Given the description of an element on the screen output the (x, y) to click on. 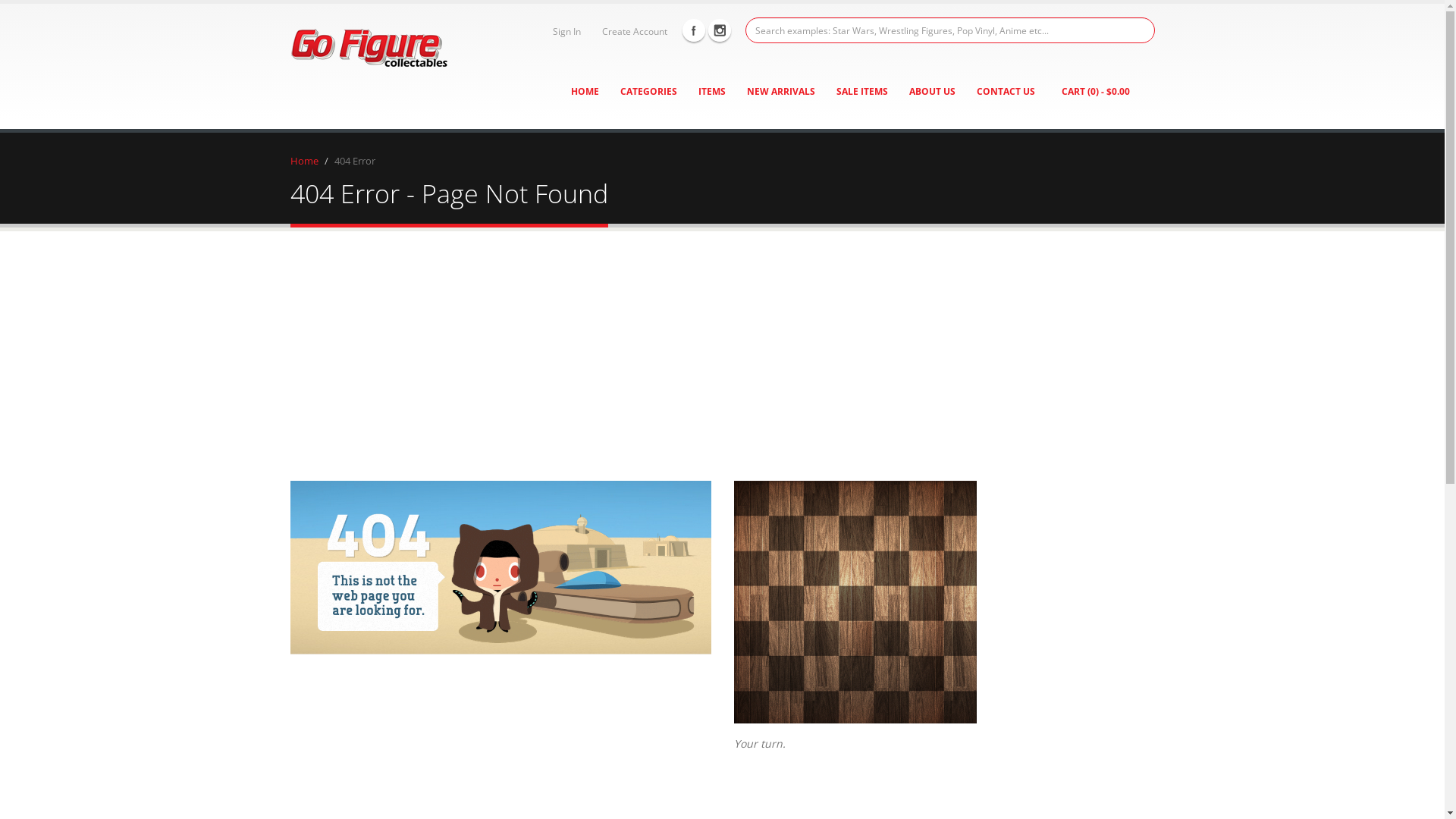
Sign In Element type: text (563, 30)
Advertisement Element type: hover (721, 344)
CONTACT US Element type: text (1005, 91)
SALE ITEMS Element type: text (861, 91)
Create Account Element type: text (631, 30)
HOME Element type: text (584, 91)
ITEMS Element type: text (711, 91)
ABOUT US Element type: text (932, 91)
NEW ARRIVALS Element type: text (781, 91)
CART (0) - $0.00 Element type: text (1095, 91)
Instagram Element type: text (719, 29)
Facebook Element type: text (693, 29)
CATEGORIES Element type: text (647, 91)
Home Element type: text (303, 160)
